Given the description of an element on the screen output the (x, y) to click on. 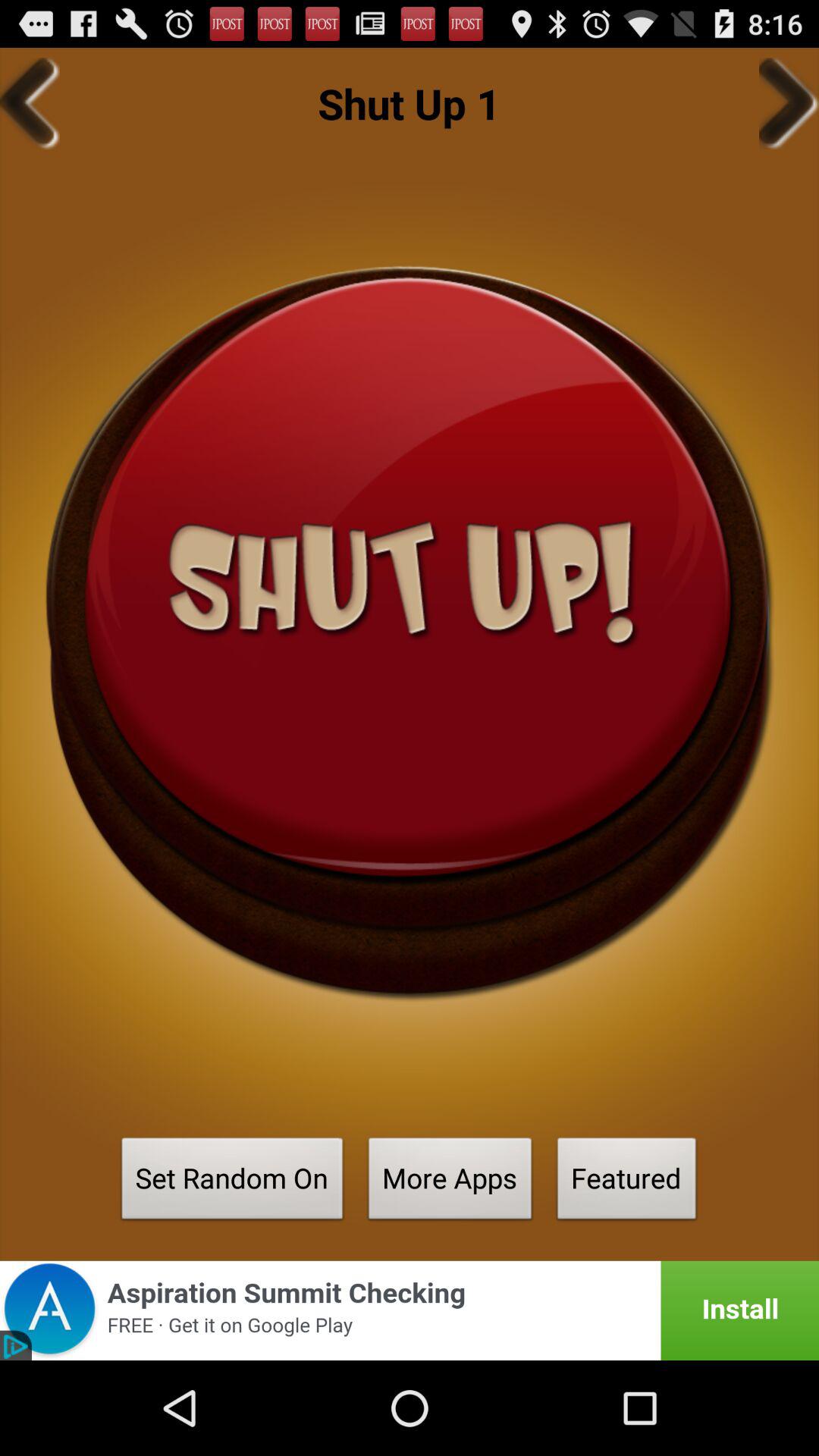
select item to the left of the more apps (232, 1182)
